Given the description of an element on the screen output the (x, y) to click on. 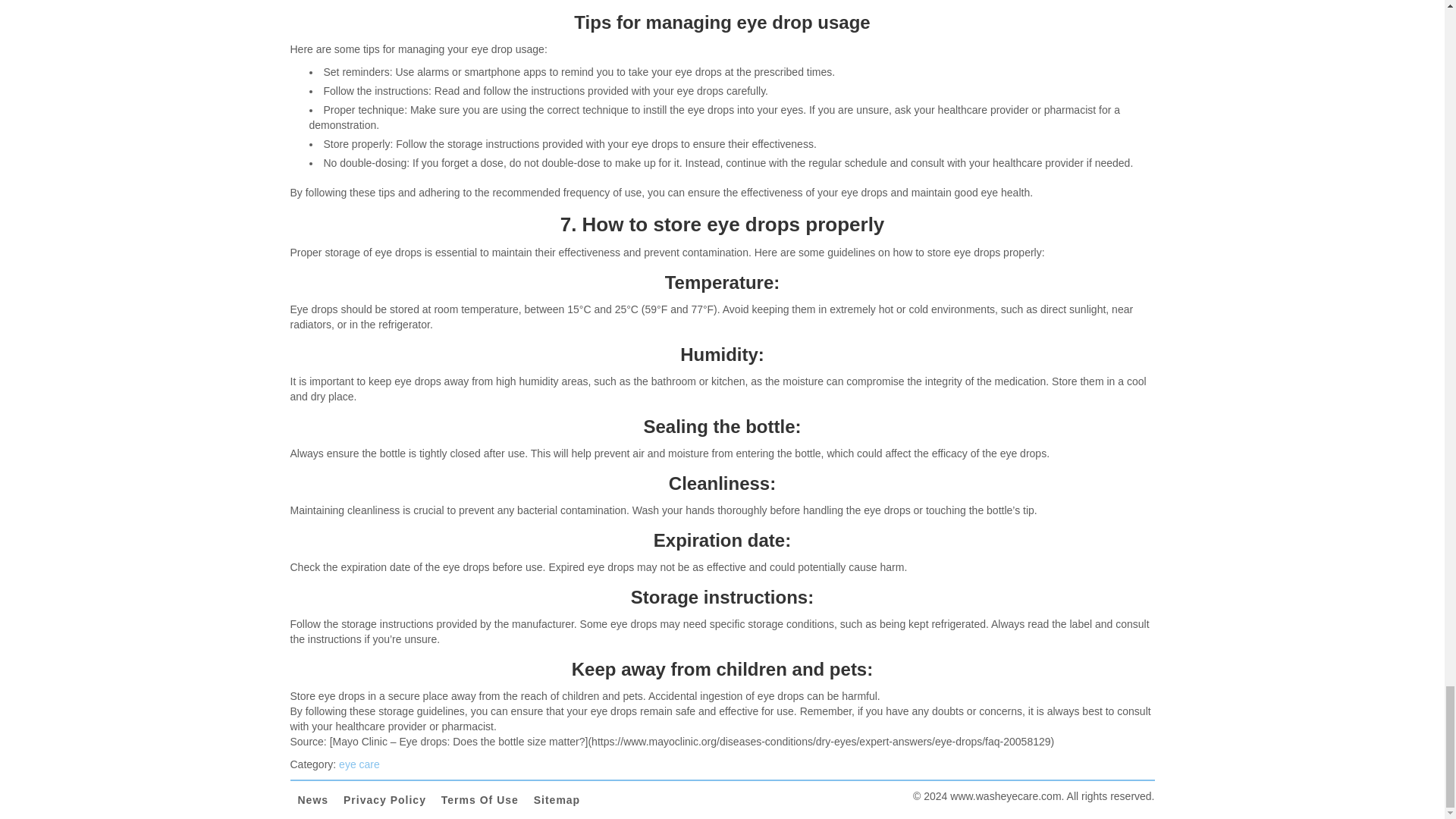
Privacy Policy (384, 799)
News (312, 799)
eye care (359, 764)
